Given the description of an element on the screen output the (x, y) to click on. 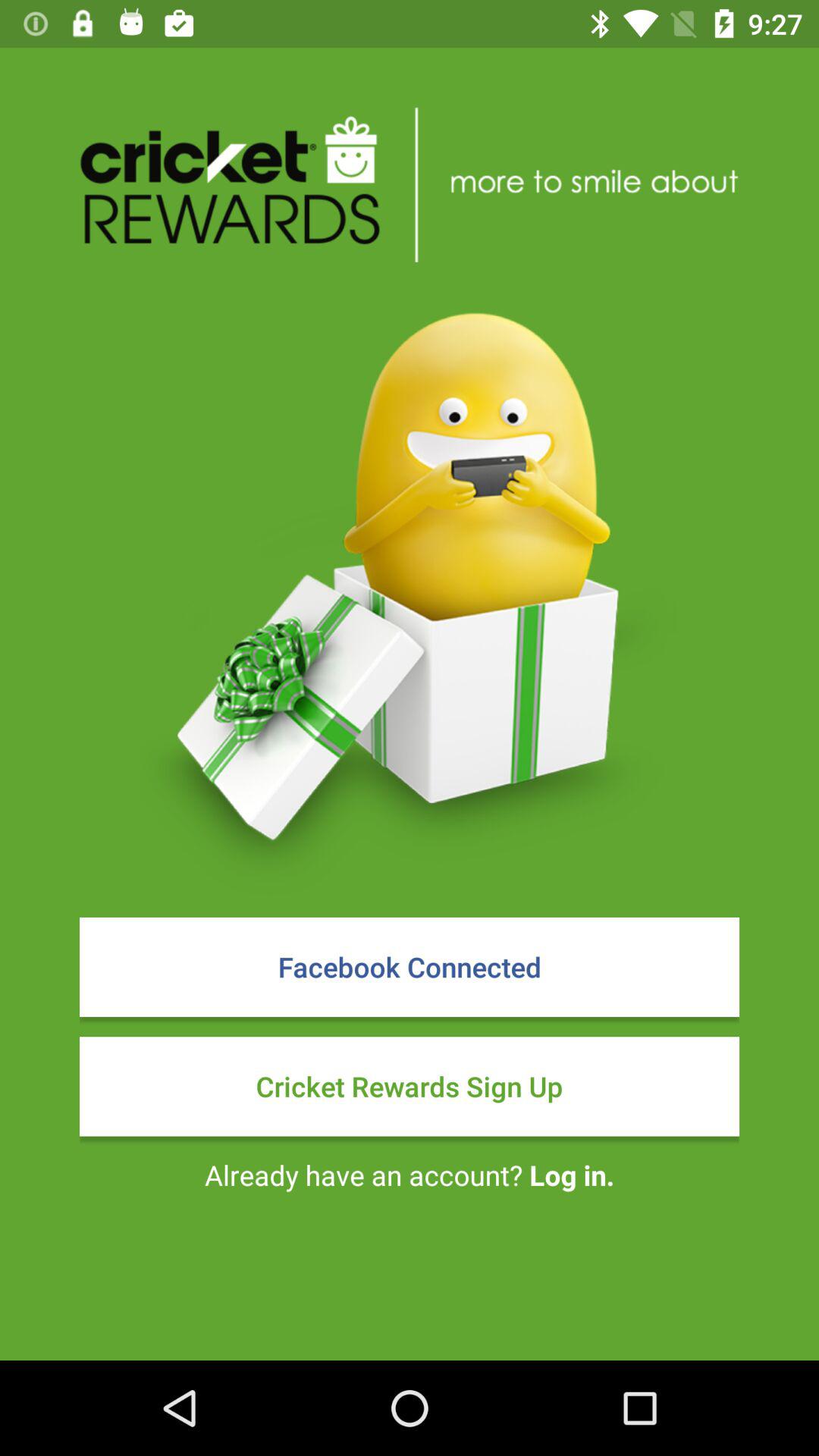
jump to facebook connected item (409, 966)
